Given the description of an element on the screen output the (x, y) to click on. 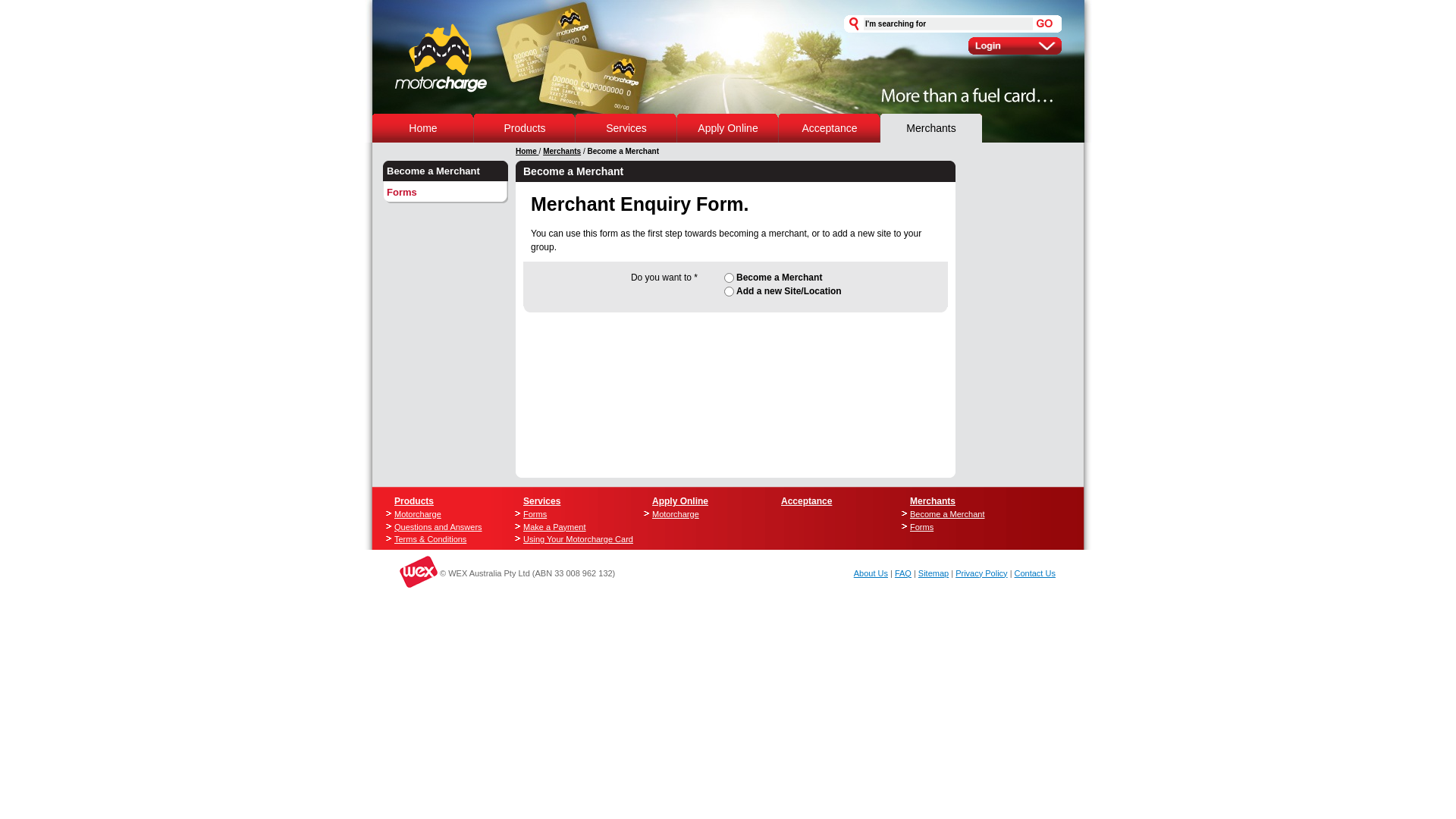
login Element type: hover (1014, 45)
Merchants Element type: text (930, 127)
Home Element type: text (527, 151)
Home Element type: text (422, 127)
WEX Element type: text (397, 571)
Become a Merchant Element type: text (445, 170)
FAQ Element type: text (902, 572)
Motorcharge Element type: text (443, 514)
Apply Online Element type: text (680, 500)
Acceptance Element type: text (828, 127)
Terms & Conditions Element type: text (443, 539)
Apply Online Element type: text (727, 127)
Questions and Answers Element type: text (443, 526)
rbAddNewSite Element type: text (729, 291)
Forms Element type: text (958, 526)
Products Element type: text (413, 500)
Acceptance Element type: text (806, 500)
Services Element type: text (541, 500)
Merchants Element type: text (561, 151)
Forms Element type: text (572, 514)
Privacy Policy Element type: text (981, 572)
Merchants Element type: text (932, 500)
Services Element type: text (625, 127)
rbRegistration Element type: text (729, 277)
Become a Merchant Element type: text (958, 514)
Using Your Motorcharge Card Element type: text (572, 539)
Products Element type: text (524, 127)
Make a Payment Element type: text (572, 526)
Motorcharge Element type: text (701, 514)
Forms Element type: text (445, 191)
About Us Element type: text (870, 572)
Search Element type: hover (1044, 23)
Contact Us Element type: text (1034, 572)
Sitemap Element type: text (933, 572)
